Given the description of an element on the screen output the (x, y) to click on. 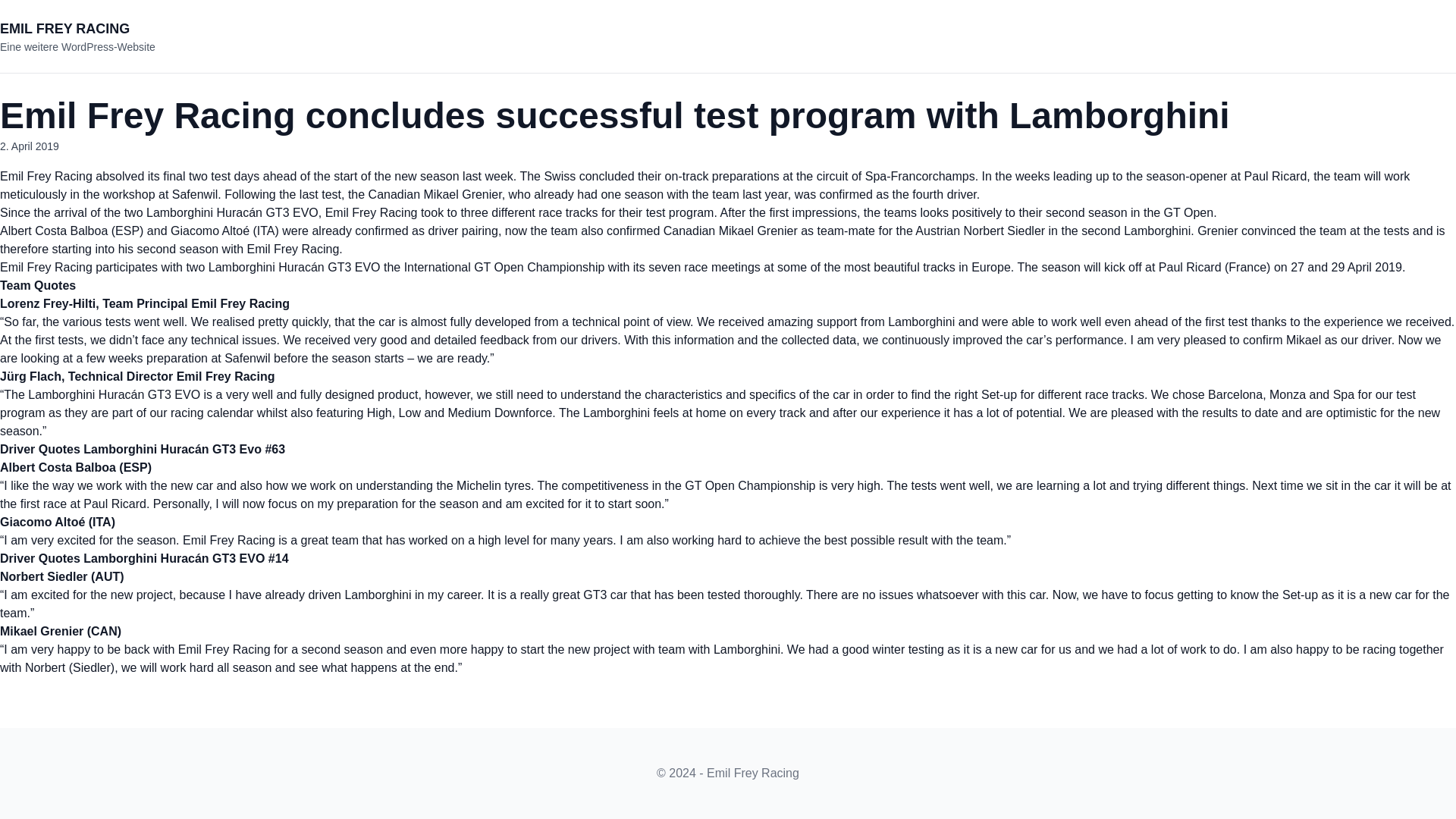
EMIL FREY RACING (64, 28)
